Given the description of an element on the screen output the (x, y) to click on. 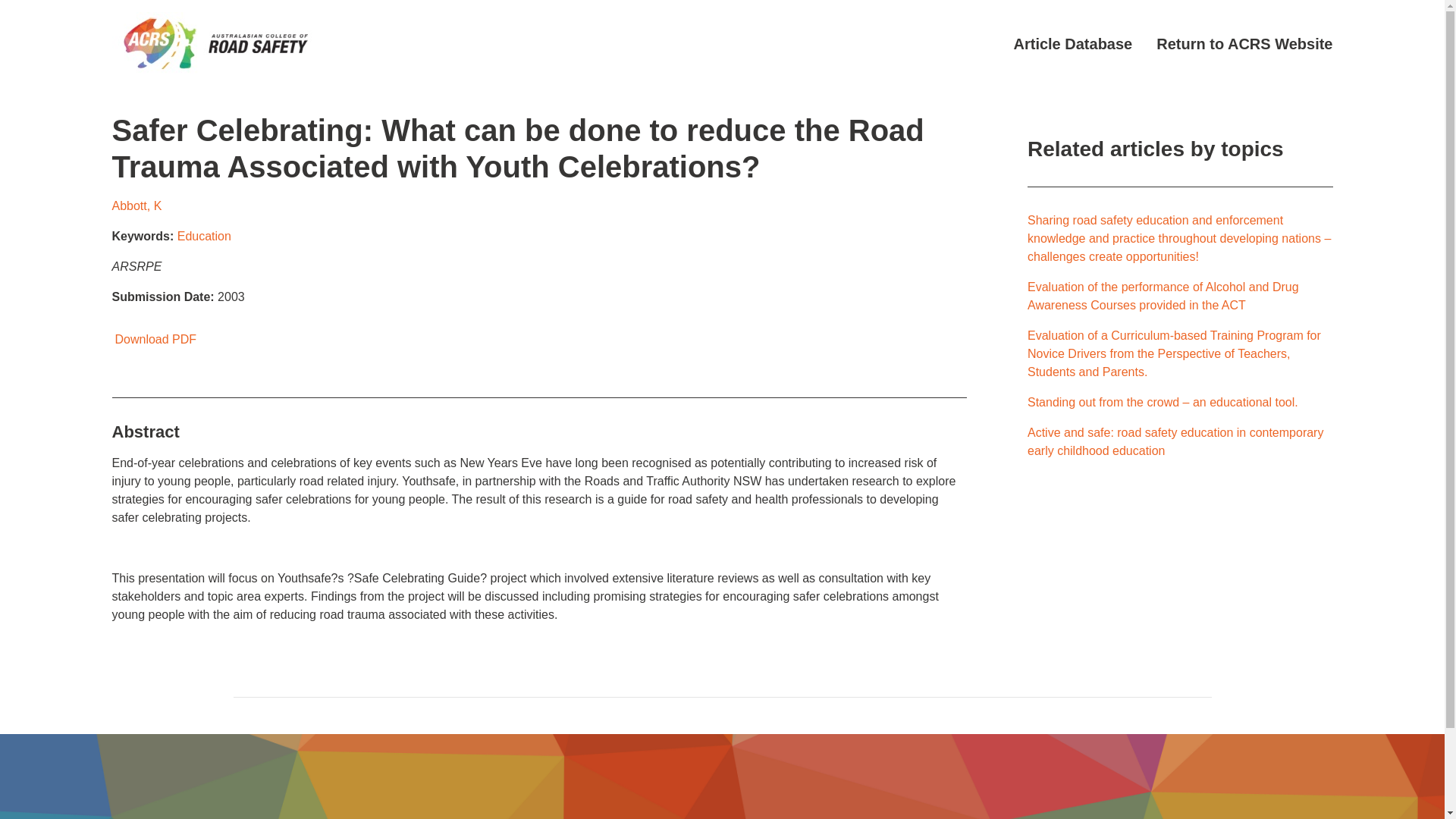
Download PDF (154, 338)
Return to ACRS Website (1244, 43)
Education (204, 236)
Article Database (1072, 43)
Abbott, K (136, 205)
